Given the description of an element on the screen output the (x, y) to click on. 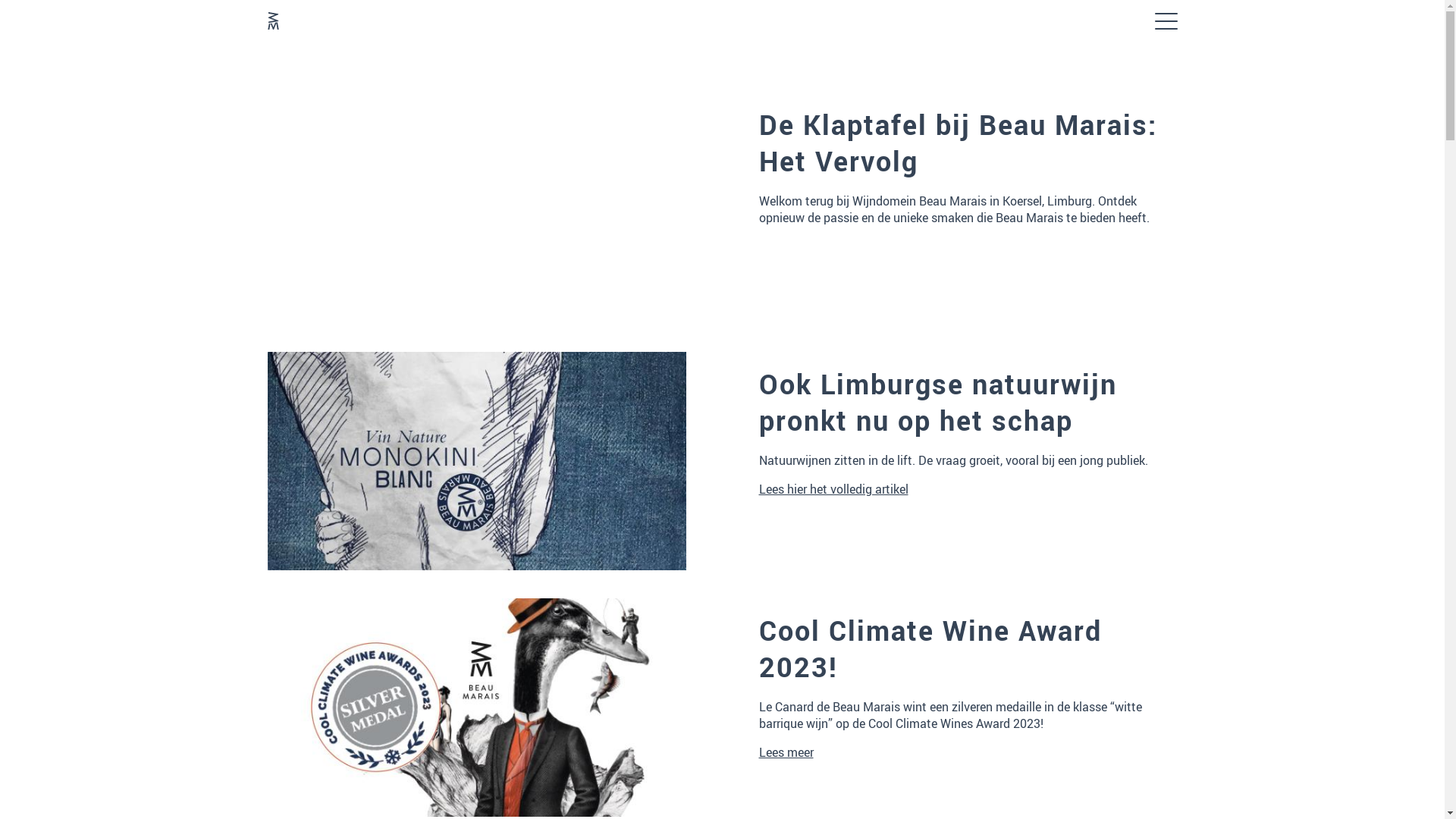
Overslaan en naar de inhoud gaan Element type: text (0, 43)
Lees hier het volledig artikel Element type: text (832, 488)
Lees meer Element type: text (785, 751)
